Given the description of an element on the screen output the (x, y) to click on. 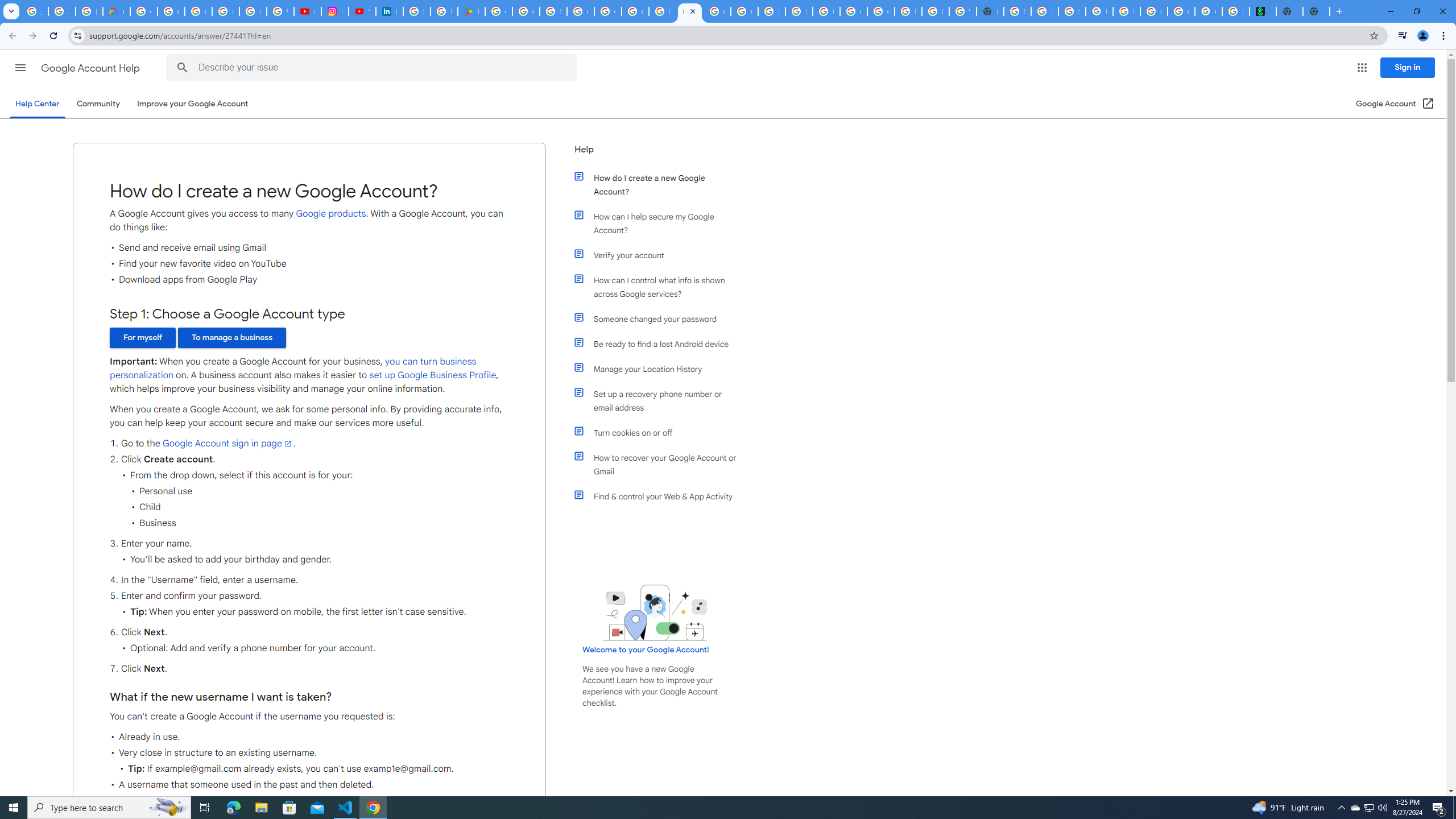
Manage your Location History (661, 368)
Sign in - Google Accounts (416, 11)
YouTube Culture & Trends - On The Rise: Handcam Videos (362, 11)
How to recover your Google Account or Gmail (661, 464)
you can turn business personalization (292, 368)
